Given the description of an element on the screen output the (x, y) to click on. 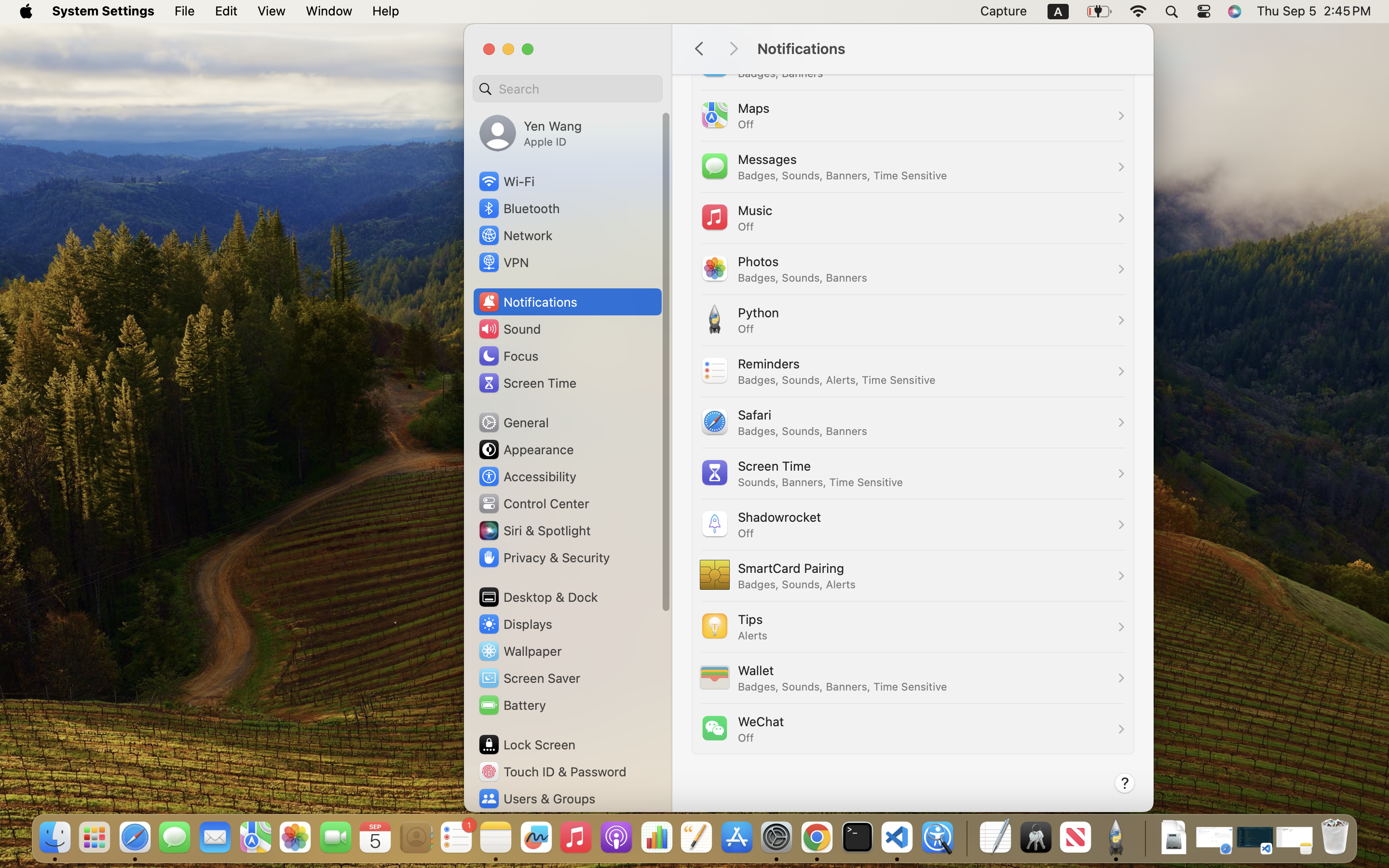
Sound Element type: AXStaticText (509, 328)
Lock Screen Element type: AXStaticText (526, 744)
Displays Element type: AXStaticText (514, 623)
Siri & Spotlight Element type: AXStaticText (533, 530)
